Given the description of an element on the screen output the (x, y) to click on. 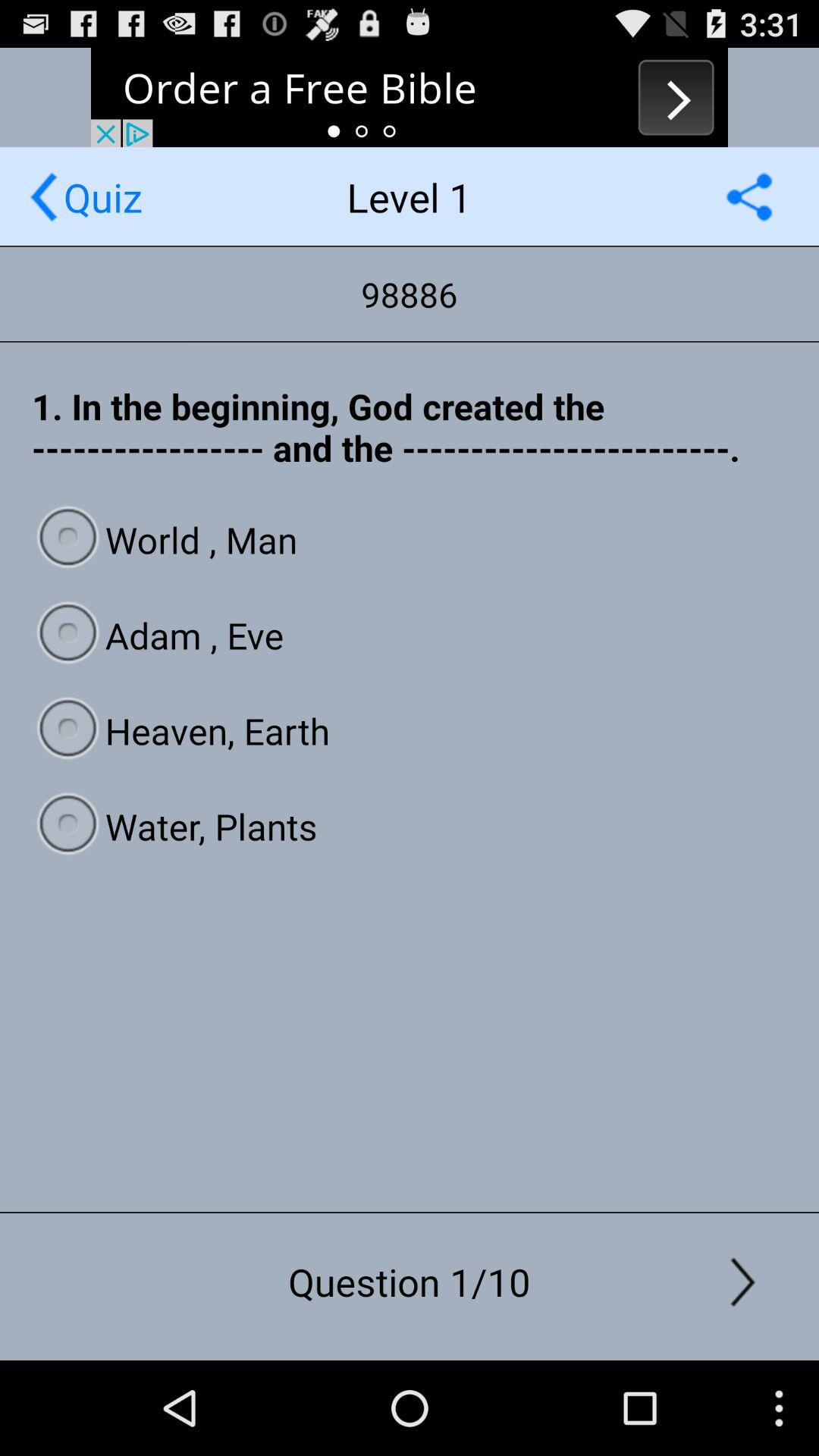
share (749, 196)
